Given the description of an element on the screen output the (x, y) to click on. 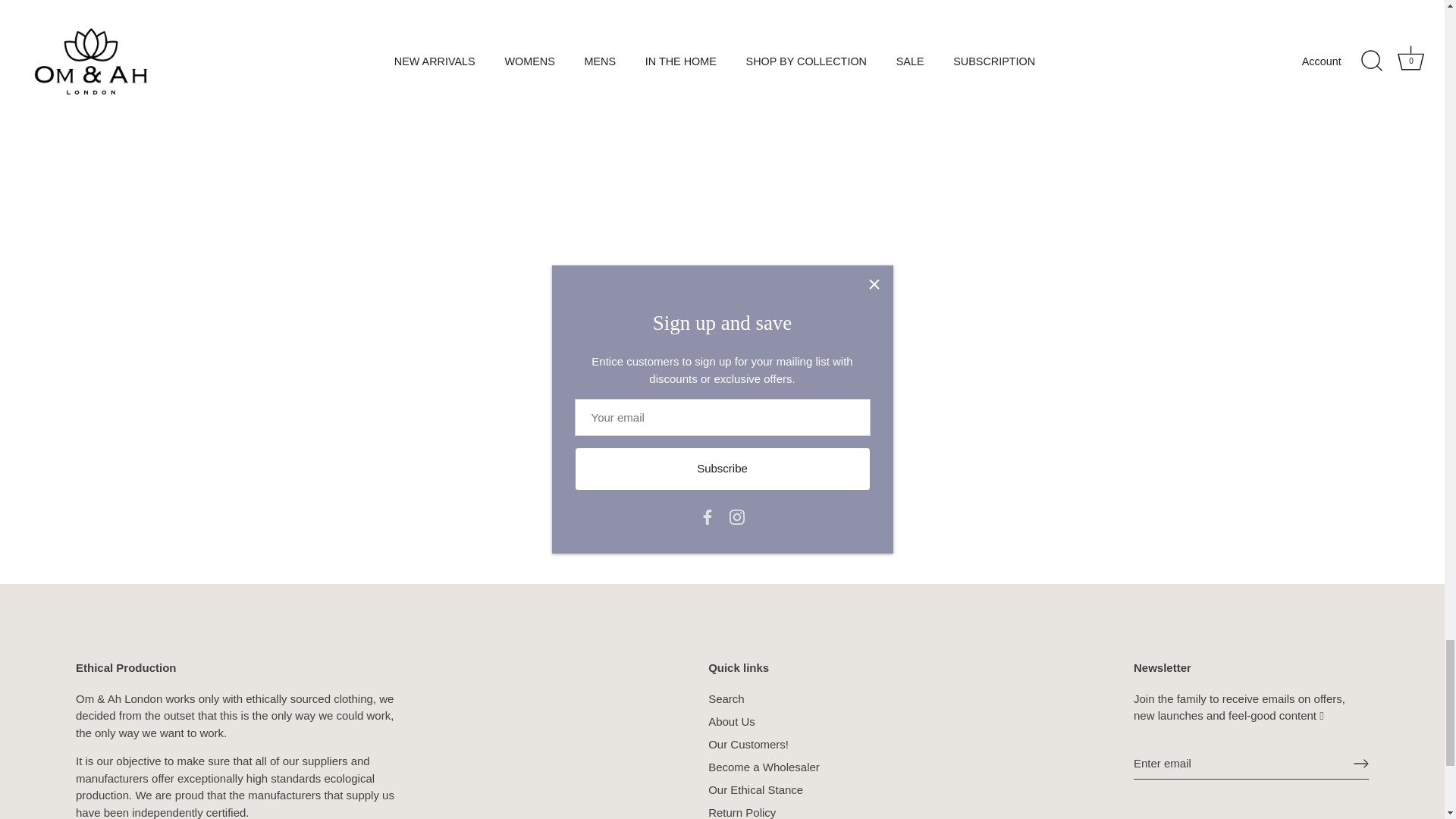
Right arrow long (1361, 763)
